Given the description of an element on the screen output the (x, y) to click on. 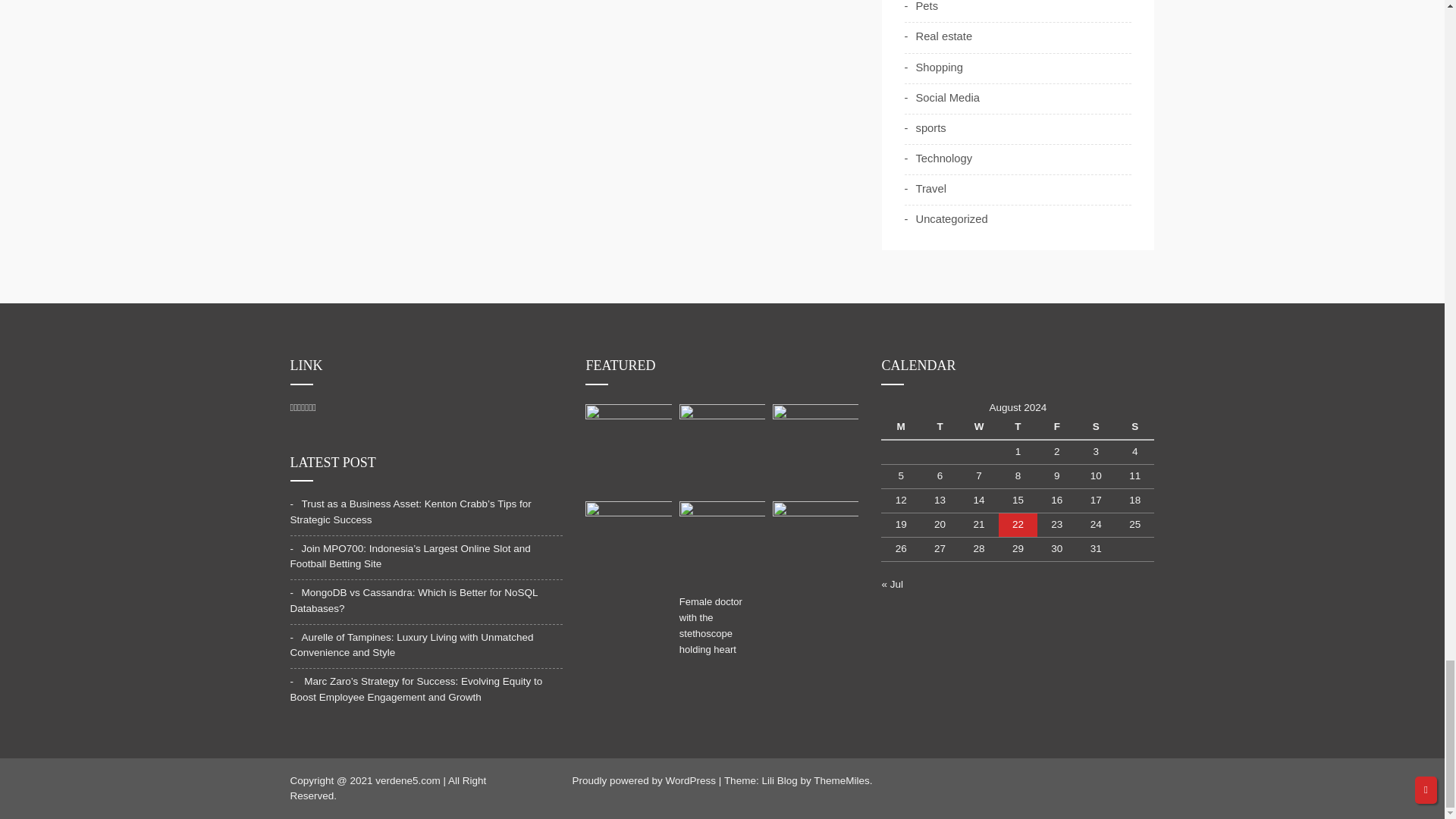
Tuesday (939, 427)
Thursday (1017, 427)
Wednesday (978, 427)
Monday (900, 427)
Saturday (1096, 427)
Sunday (1134, 427)
Friday (1055, 427)
